Given the description of an element on the screen output the (x, y) to click on. 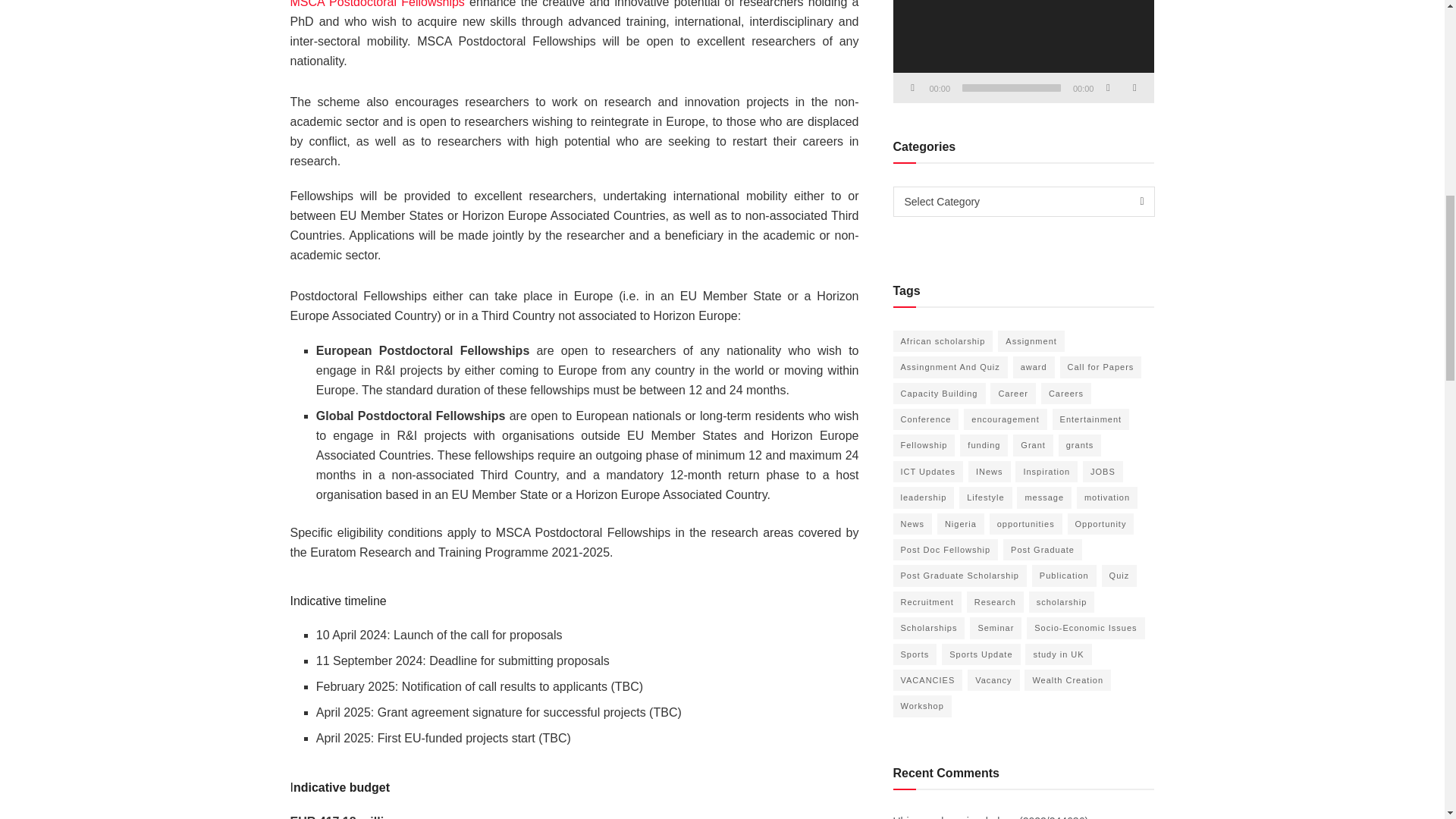
Mute (1107, 87)
Fullscreen (1133, 87)
Play (912, 87)
